Given the description of an element on the screen output the (x, y) to click on. 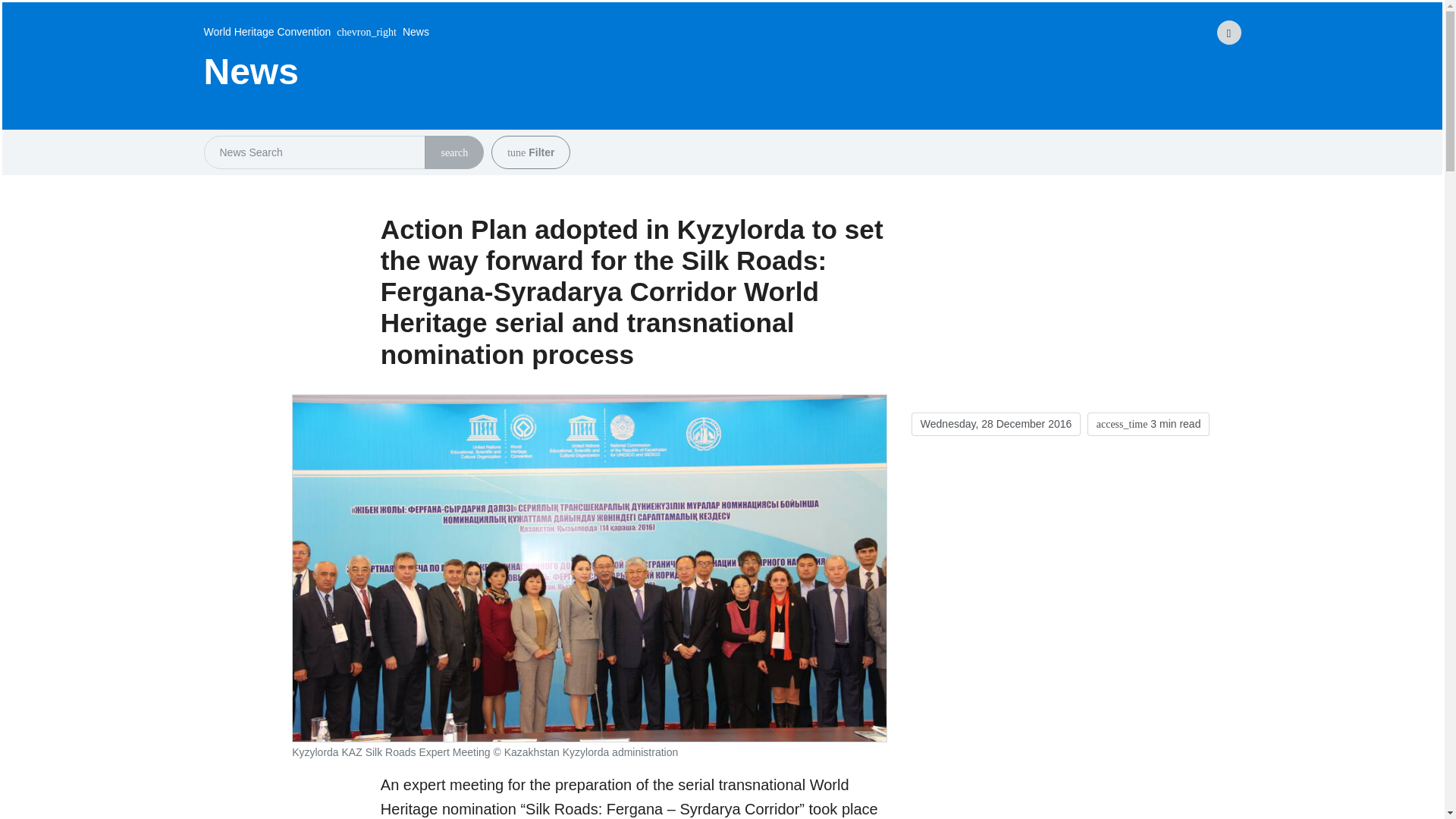
search (454, 151)
World Heritage Convention (266, 32)
News (379, 32)
Filter your search (515, 153)
News Search (454, 153)
